Given the description of an element on the screen output the (x, y) to click on. 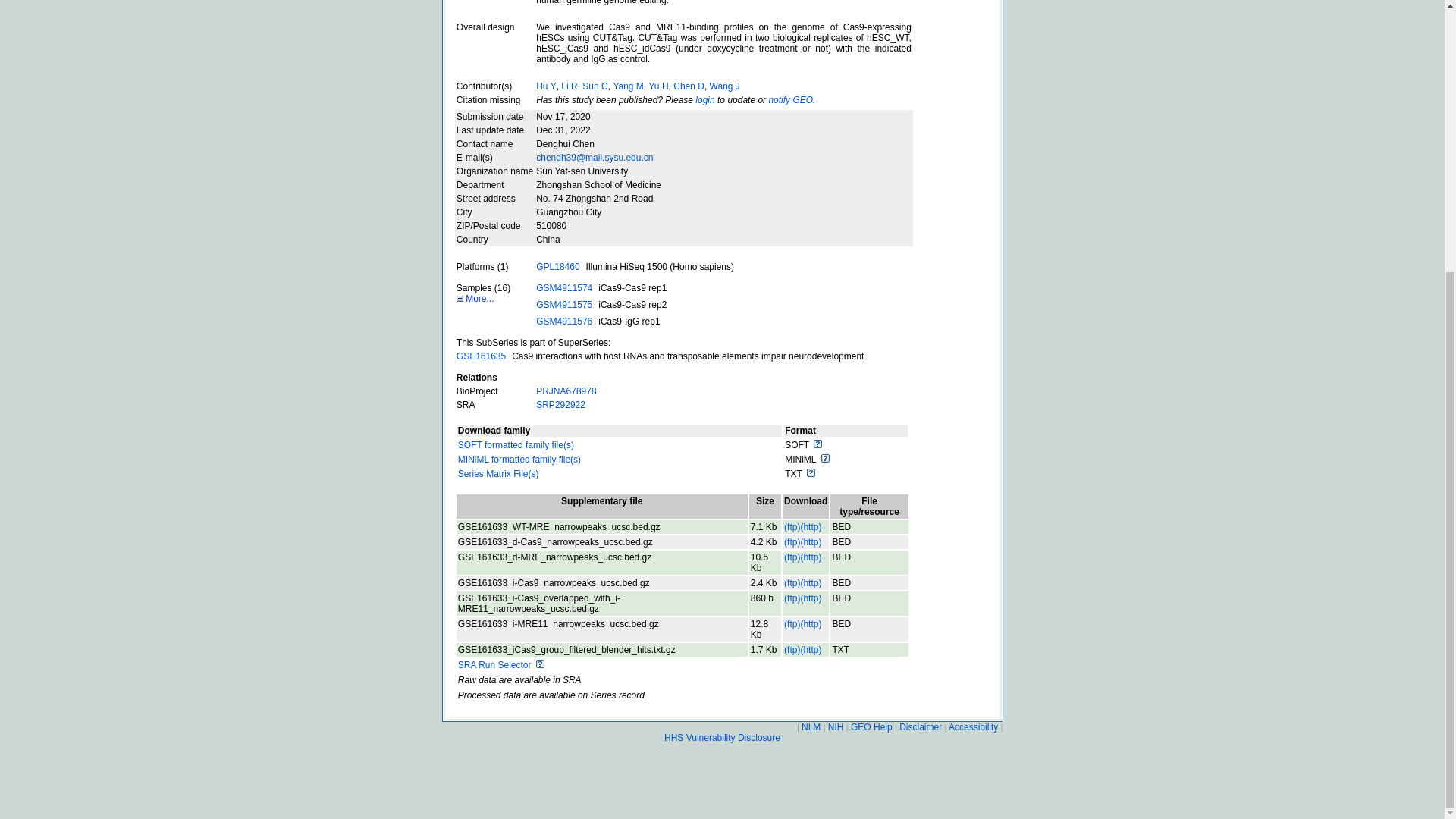
GSM4911576 (563, 321)
 More... (476, 298)
1725 (764, 649)
Hu Y (545, 86)
2415 (764, 582)
7272 (764, 526)
Wang J (724, 86)
Yang M (627, 86)
GSM4911575 (563, 304)
Sun C (594, 86)
login (704, 100)
10718 (764, 562)
notify GEO (790, 100)
Chen D (688, 86)
4303 (764, 541)
